Given the description of an element on the screen output the (x, y) to click on. 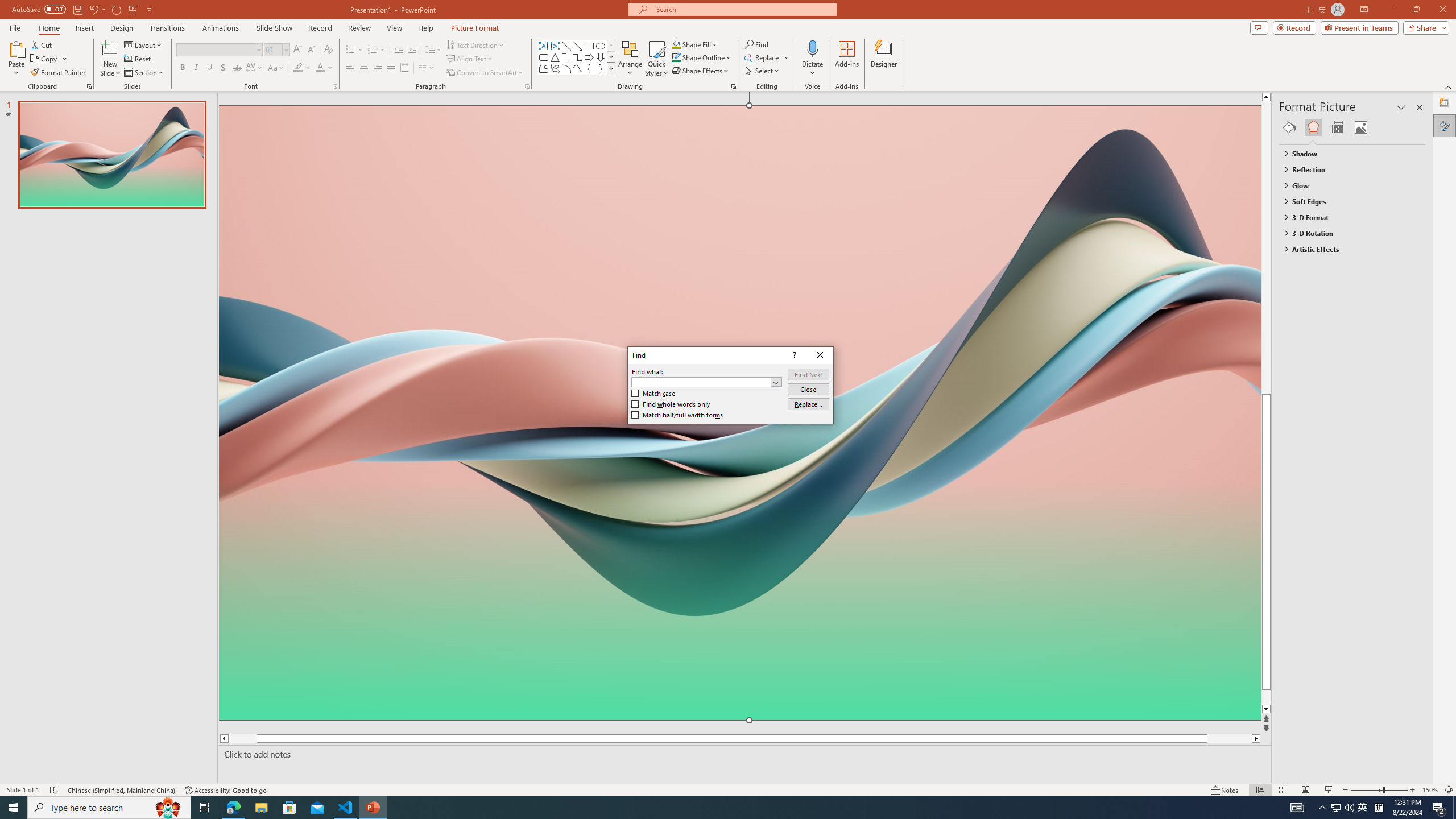
Connector: Elbow Arrow (577, 57)
Align Text (470, 58)
Visual Studio Code - 1 running window (345, 807)
Bold (182, 67)
Zoom 150% (1430, 790)
Start (13, 807)
Designer (883, 58)
Microsoft Edge - 1 running window (233, 807)
